Given the description of an element on the screen output the (x, y) to click on. 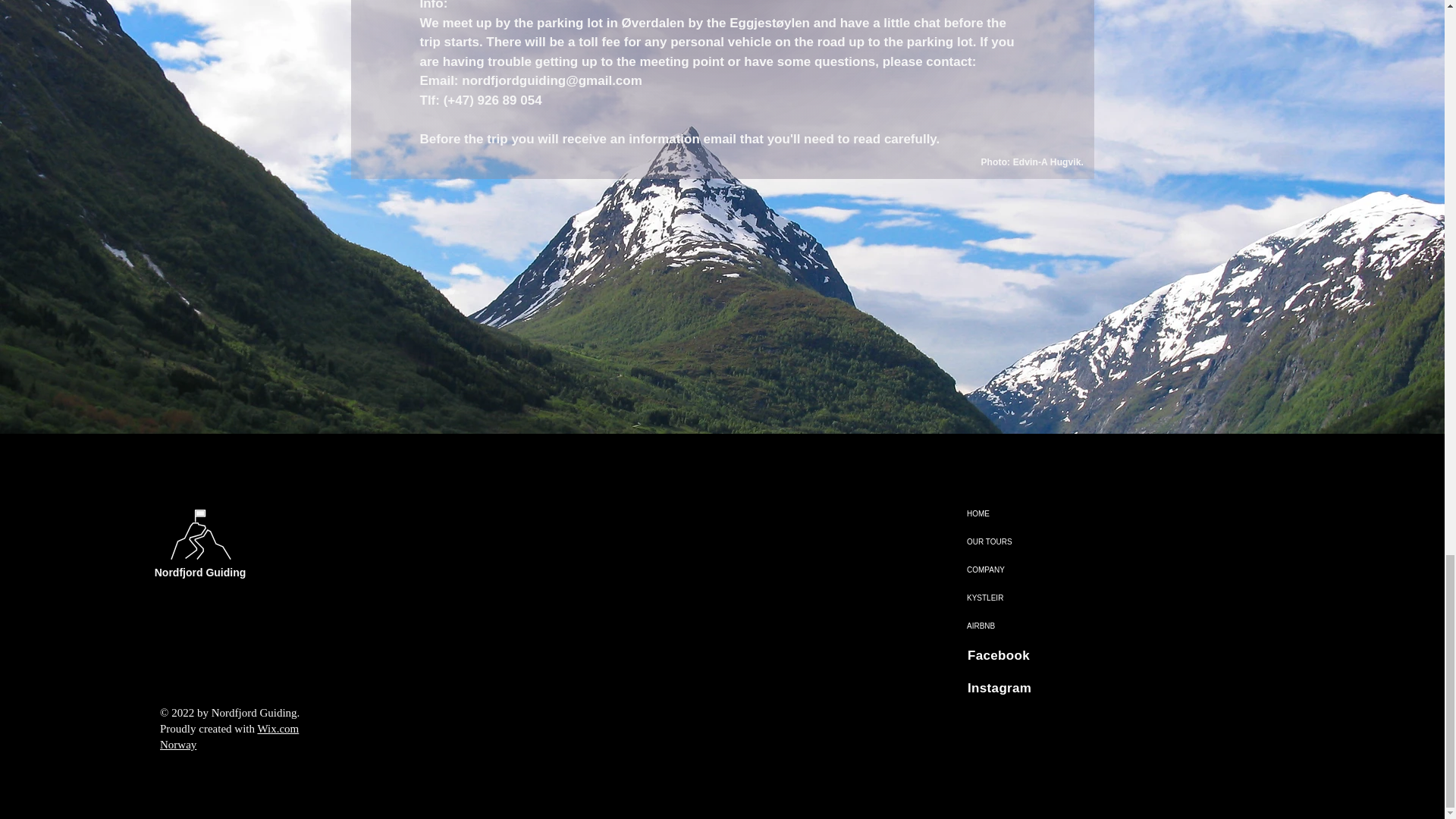
Nordfjord Guiding (200, 572)
HOME (1000, 513)
Facebook (998, 655)
KYSTLEIR (1000, 597)
Wix.com (277, 728)
AIRBNB (1000, 625)
Instagram (999, 687)
